Given the description of an element on the screen output the (x, y) to click on. 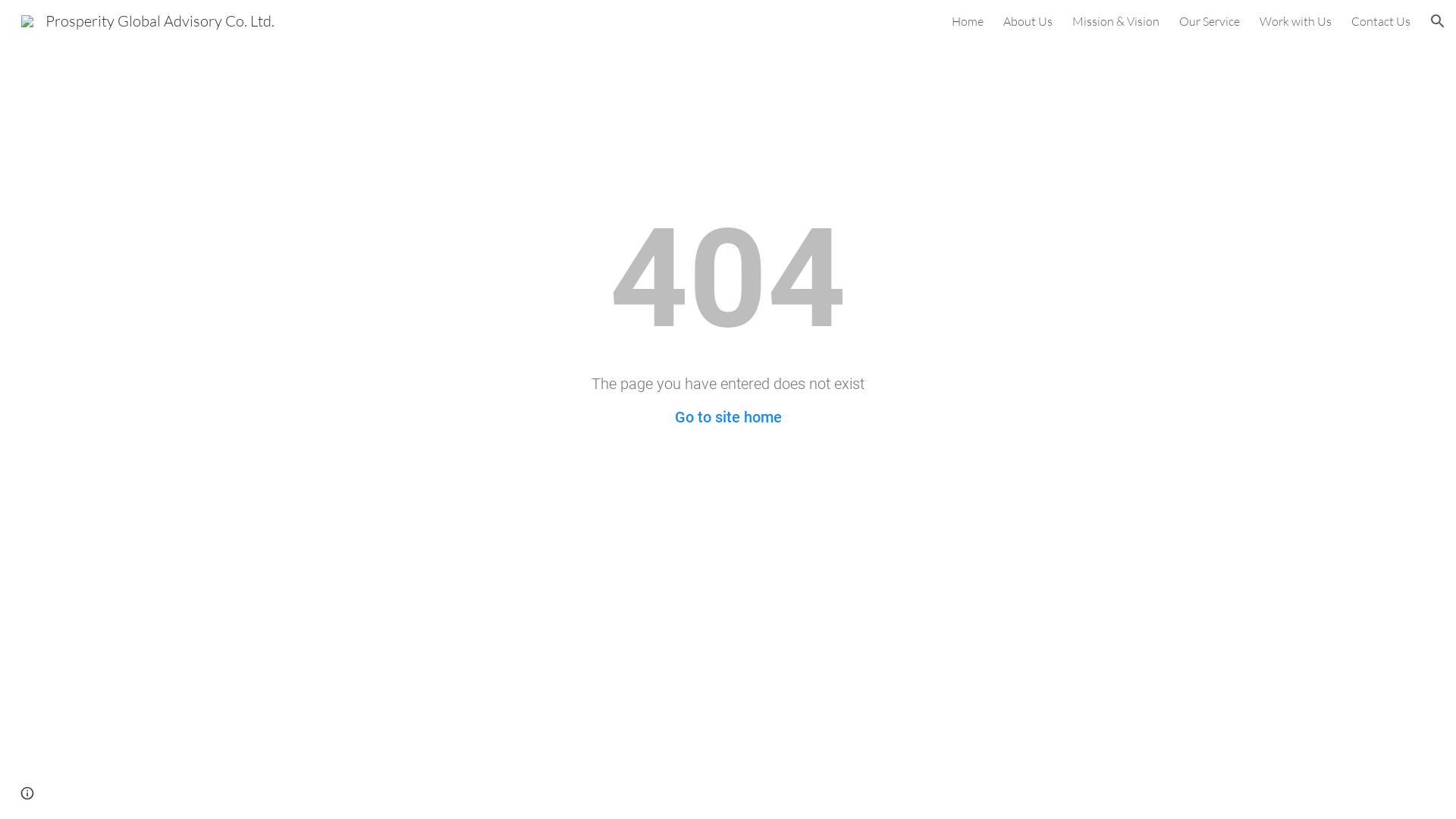
Mission & Vision Element type: text (1115, 20)
Our Service Element type: text (1209, 20)
Go to site home Element type: text (727, 416)
Work with Us Element type: text (1295, 20)
Contact Us Element type: text (1380, 20)
Home Element type: text (967, 20)
Prosperity Global Advisory Co. Ltd. Element type: text (147, 18)
About Us Element type: text (1027, 20)
